Given the description of an element on the screen output the (x, y) to click on. 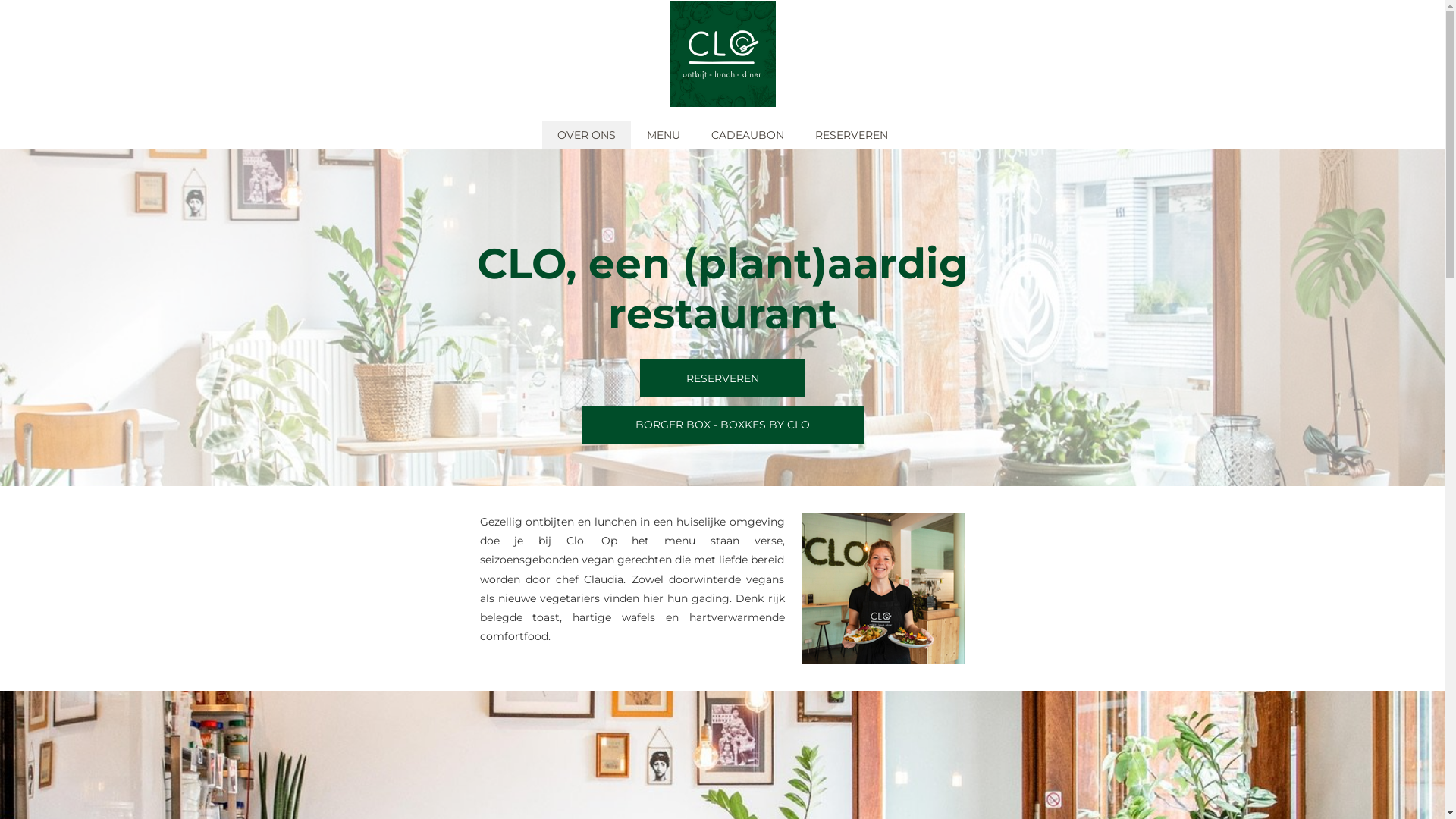
OVER ONS Element type: text (585, 133)
RESERVEREN Element type: text (722, 378)
MENU Element type: text (662, 133)
BORGER BOX - BOXKES BY CLO Element type: text (721, 424)
RESERVEREN Element type: text (850, 133)
CADEAUBON Element type: text (747, 133)
